Given the description of an element on the screen output the (x, y) to click on. 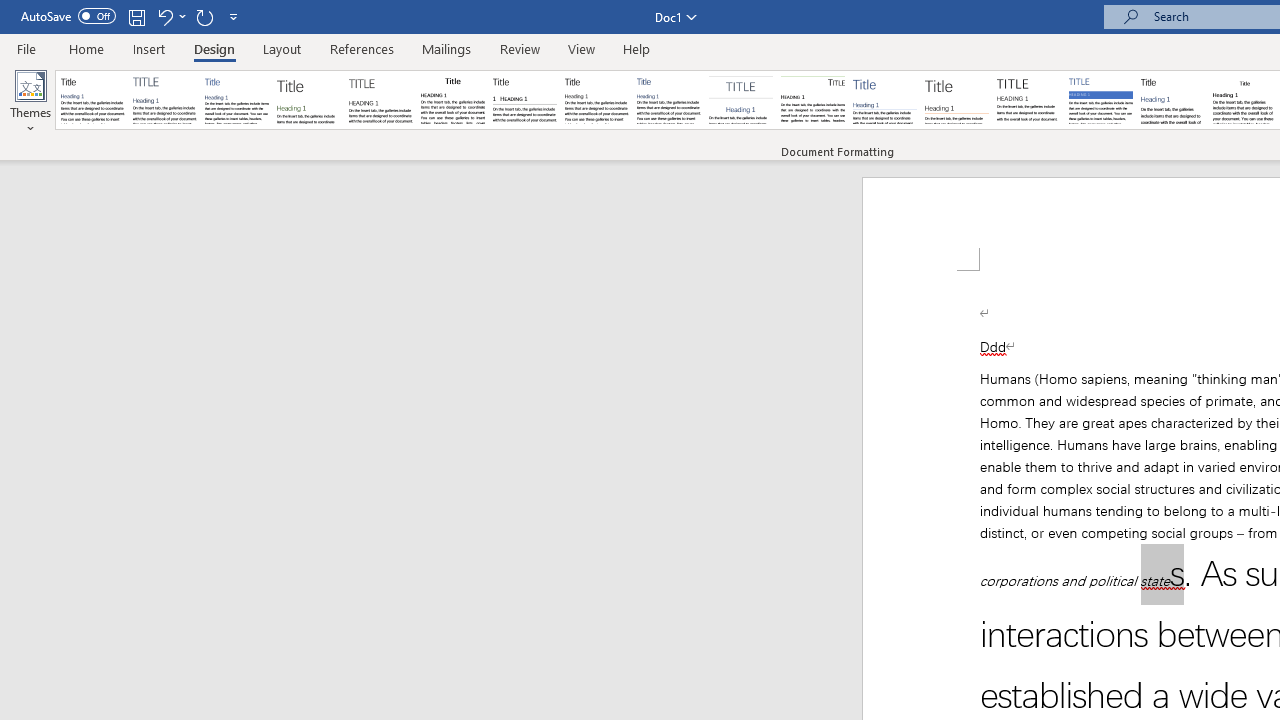
Repeat Accessibility Checker (204, 15)
Lines (Simple) (884, 100)
Basic (Elegant) (164, 100)
Lines (Stylish) (957, 100)
Black & White (Capitalized) (381, 100)
Black & White (Classic) (452, 100)
